Given the description of an element on the screen output the (x, y) to click on. 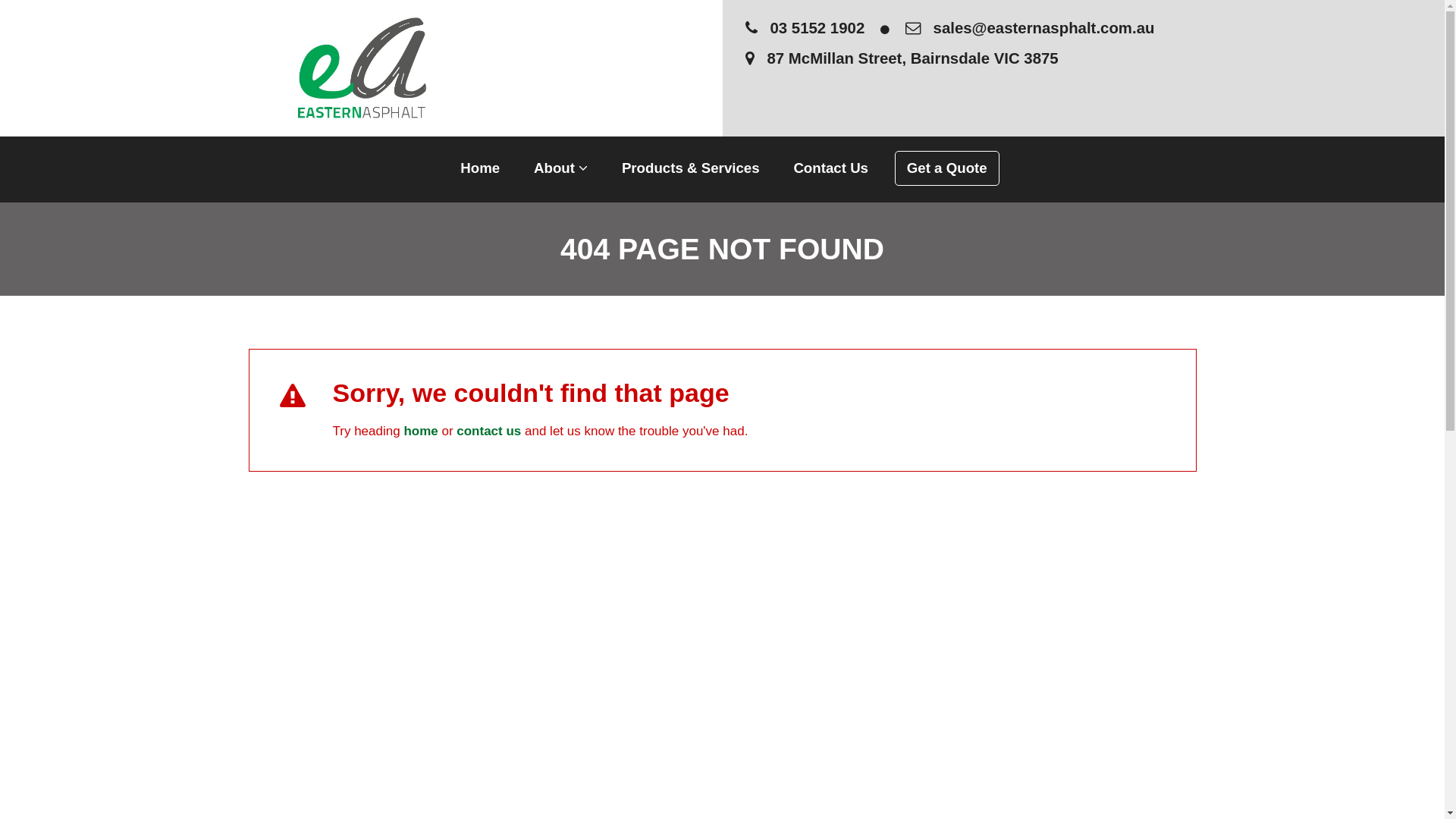
contact us Element type: text (488, 430)
  03 5152 1902 Element type: text (805, 27)
Home Element type: text (479, 169)
home Element type: text (420, 430)
Get a Quote Element type: text (946, 167)
Products & Services Element type: text (690, 169)
   87 McMillan Street, Bairnsdale VIC 3875 Element type: text (1083, 58)
About Element type: text (560, 169)
  sales@easternasphalt.com.au Element type: text (1029, 27)
Contact Us Element type: text (830, 169)
